Given the description of an element on the screen output the (x, y) to click on. 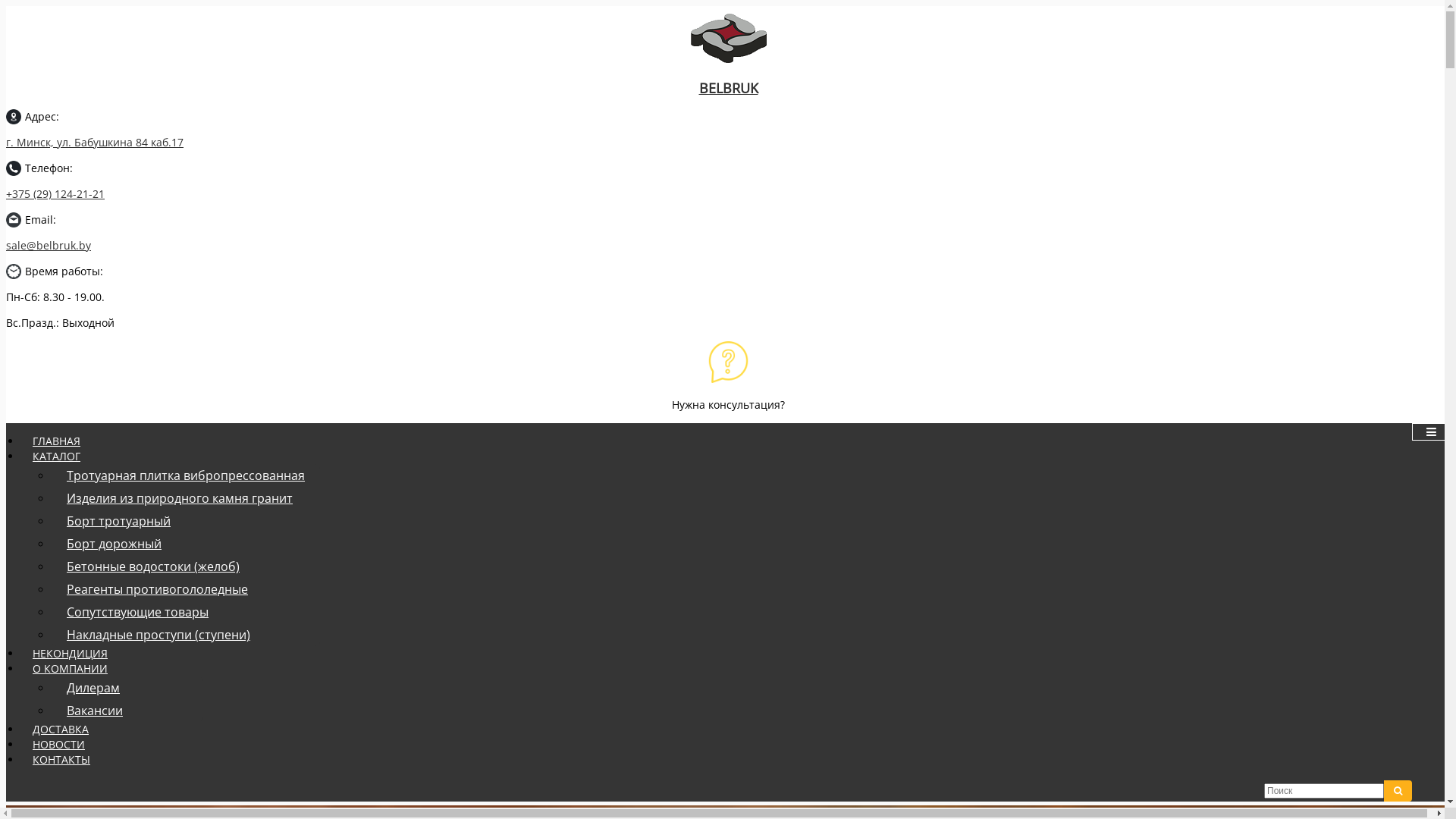
logo Element type: hover (727, 37)
sale@belbruk.by Element type: text (48, 245)
BELBRUK Element type: text (728, 73)
+375 (29) 124-21-21 Element type: text (55, 193)
